Given the description of an element on the screen output the (x, y) to click on. 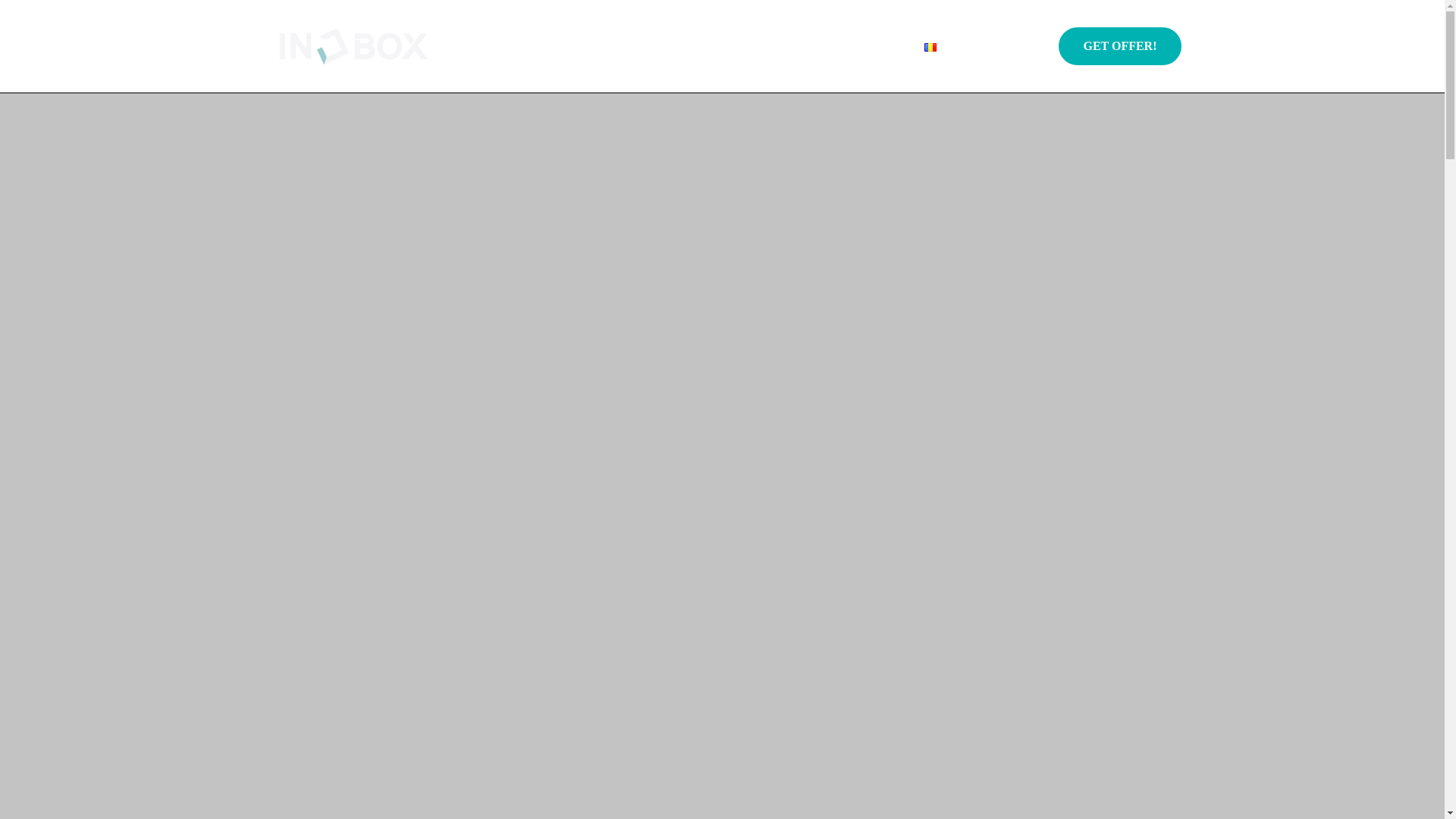
GET OFFER! (1119, 46)
Home (523, 45)
Contact (879, 45)
Services (588, 45)
Life At Inobox (675, 45)
Portfolio (810, 45)
